Given the description of an element on the screen output the (x, y) to click on. 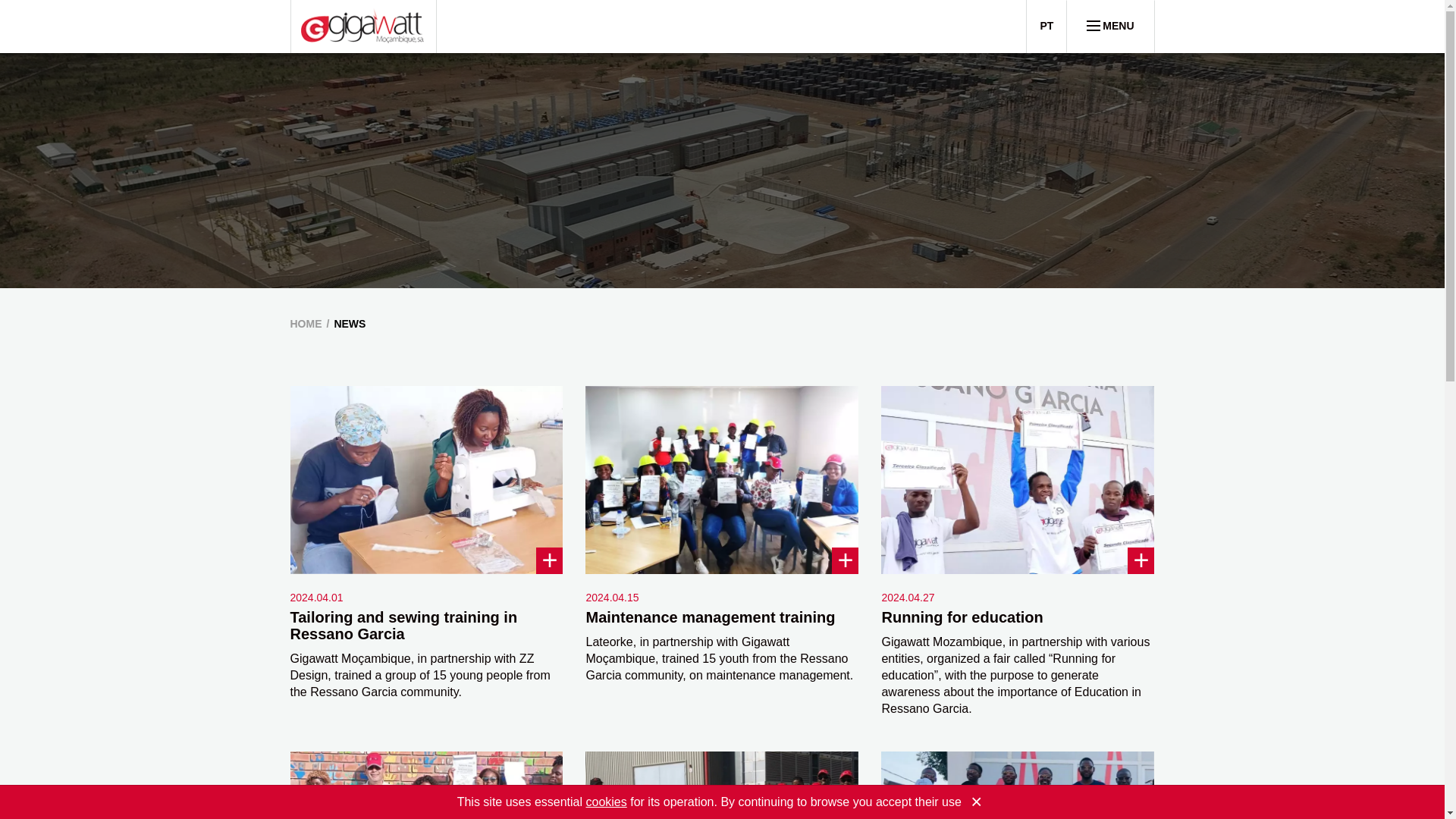
HOME (305, 323)
MENU (1109, 26)
Running for education (961, 617)
Tailoring and sewing training in Ressano Garcia (402, 625)
back to homepage (363, 26)
Maintenance management training (709, 617)
